Given the description of an element on the screen output the (x, y) to click on. 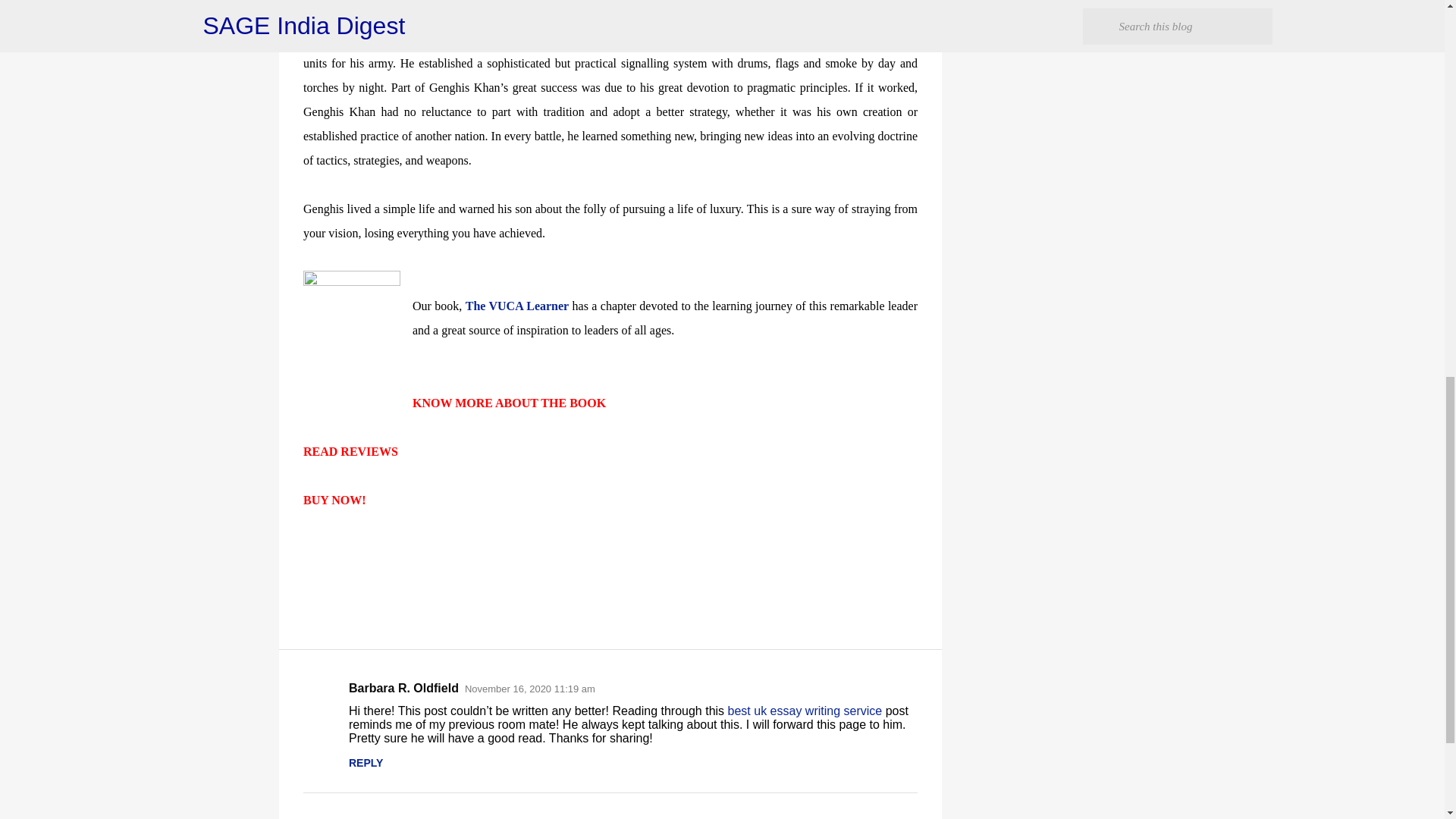
REPLY (365, 762)
November 16, 2020 11:19 am (529, 688)
READ REVIEWS (349, 451)
Social Media- The latest buzzword in the world of marketing! (1054, 9)
best uk essay writing service (805, 710)
The VUCA Learner (517, 305)
Email Post (311, 552)
KNOW MORE ABOUT THE BOOK (508, 402)
BUY NOW! (334, 499)
Barbara R. Oldfield (403, 687)
